Given the description of an element on the screen output the (x, y) to click on. 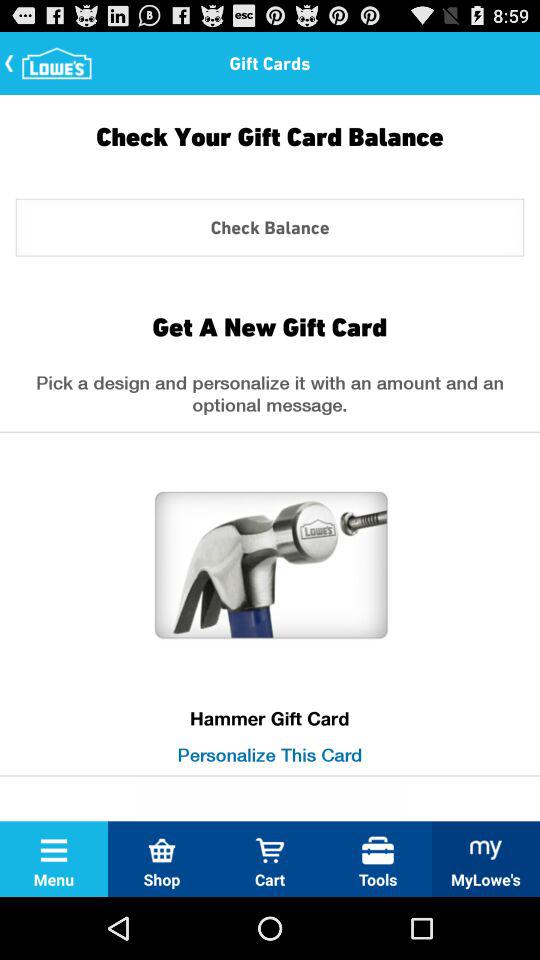
open icon above pick a design (269, 326)
